Given the description of an element on the screen output the (x, y) to click on. 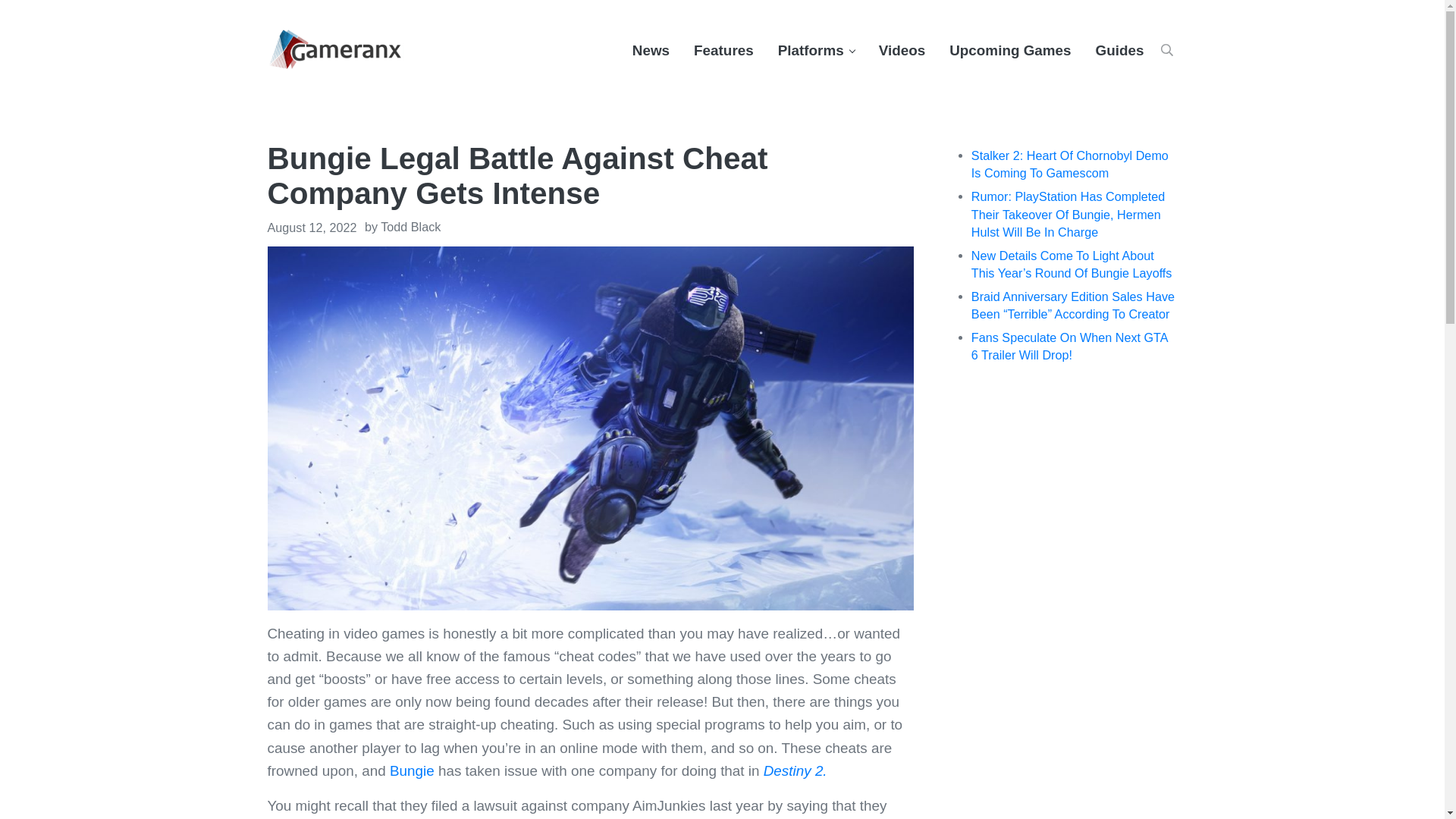
Platforms (815, 50)
Upcoming Games (1010, 50)
Stalker 2: Heart Of Chornobyl Demo Is Coming To Gamescom (1070, 163)
News (650, 50)
Todd Black (410, 226)
Guides (1119, 50)
Features (723, 50)
Destiny 2. (794, 770)
Bungie (411, 770)
Videos (901, 50)
